Given the description of an element on the screen output the (x, y) to click on. 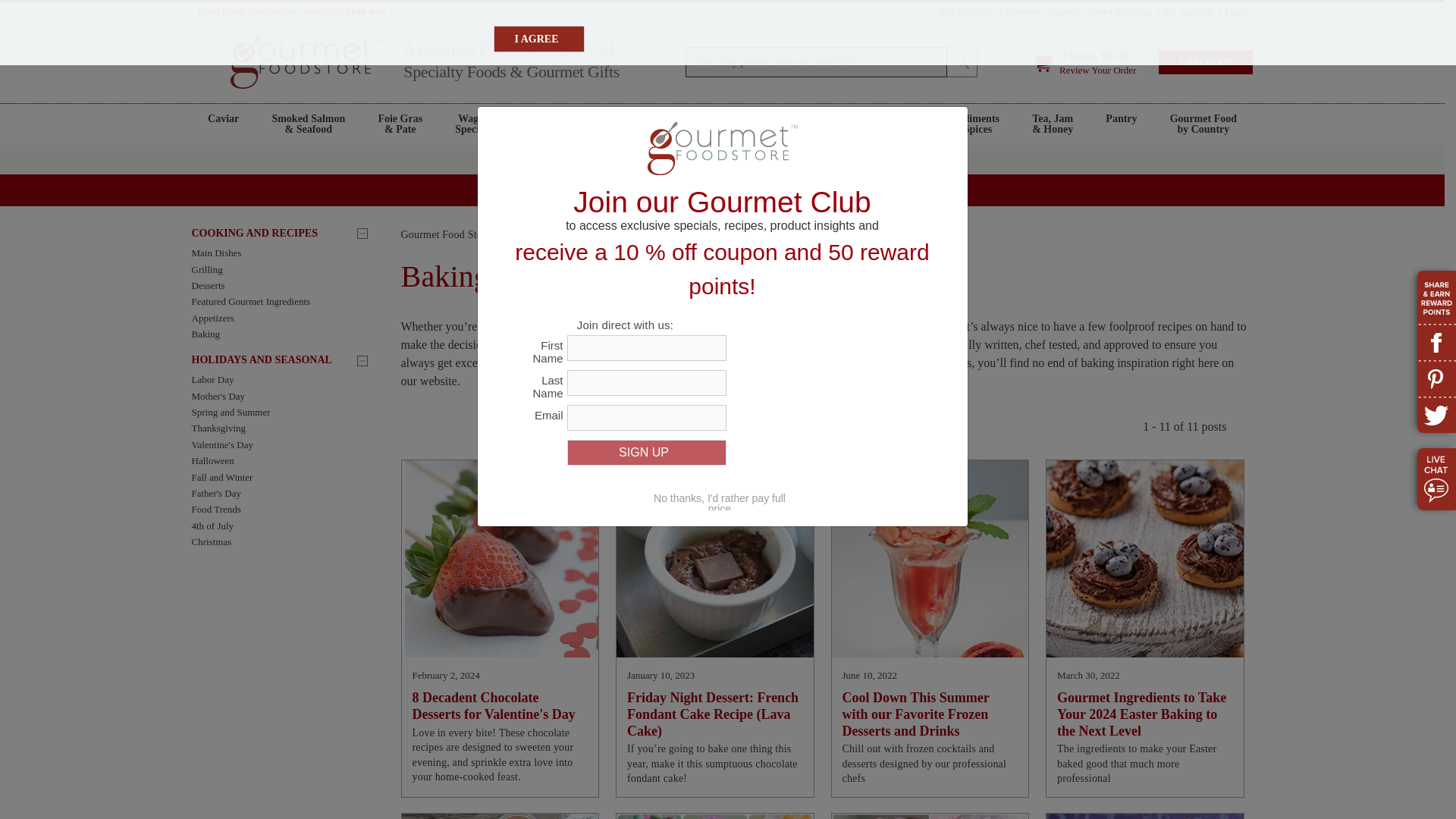
Order Tracking (1121, 10)
10 Showstopping Desserts for Easter (714, 816)
For Kids and Grownups! Halloween Graveyard Cake Recipe (1144, 816)
Gourmet Food Blog (548, 234)
CHECKOUT (1205, 61)
Sweets For Our Sweet: Valentine's Day Recipes (929, 816)
Login (1236, 10)
Caviar (223, 124)
Gourmet Food Store (445, 234)
